Given the description of an element on the screen output the (x, y) to click on. 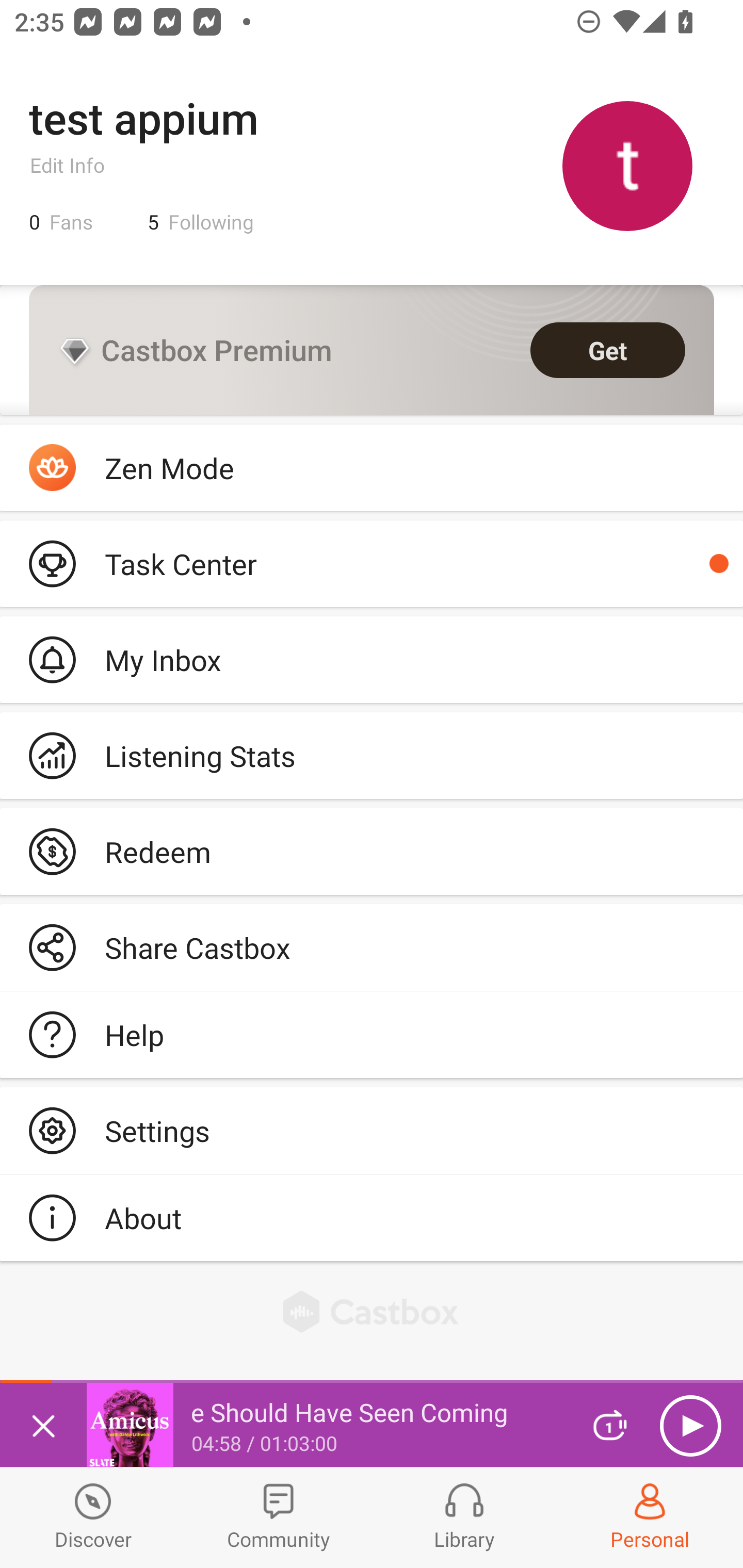
test appium Edit Info 0 Fans 5 Following (371, 165)
0 Fans (60, 221)
5 Following (200, 221)
Castbox Premium Get (371, 350)
Get (607, 350)
Zen Mode (371, 467)
Podcaster  Task Center (371, 563)
 My Inbox (371, 659)
 Listening Stats (371, 755)
 Redeem (371, 851)
 Share Castbox (371, 947)
 Help (371, 1034)
 Settings (371, 1130)
 About (371, 1217)
Play (690, 1425)
Discover (92, 1517)
Community (278, 1517)
Library (464, 1517)
Profiles and Settings Personal (650, 1517)
